Given the description of an element on the screen output the (x, y) to click on. 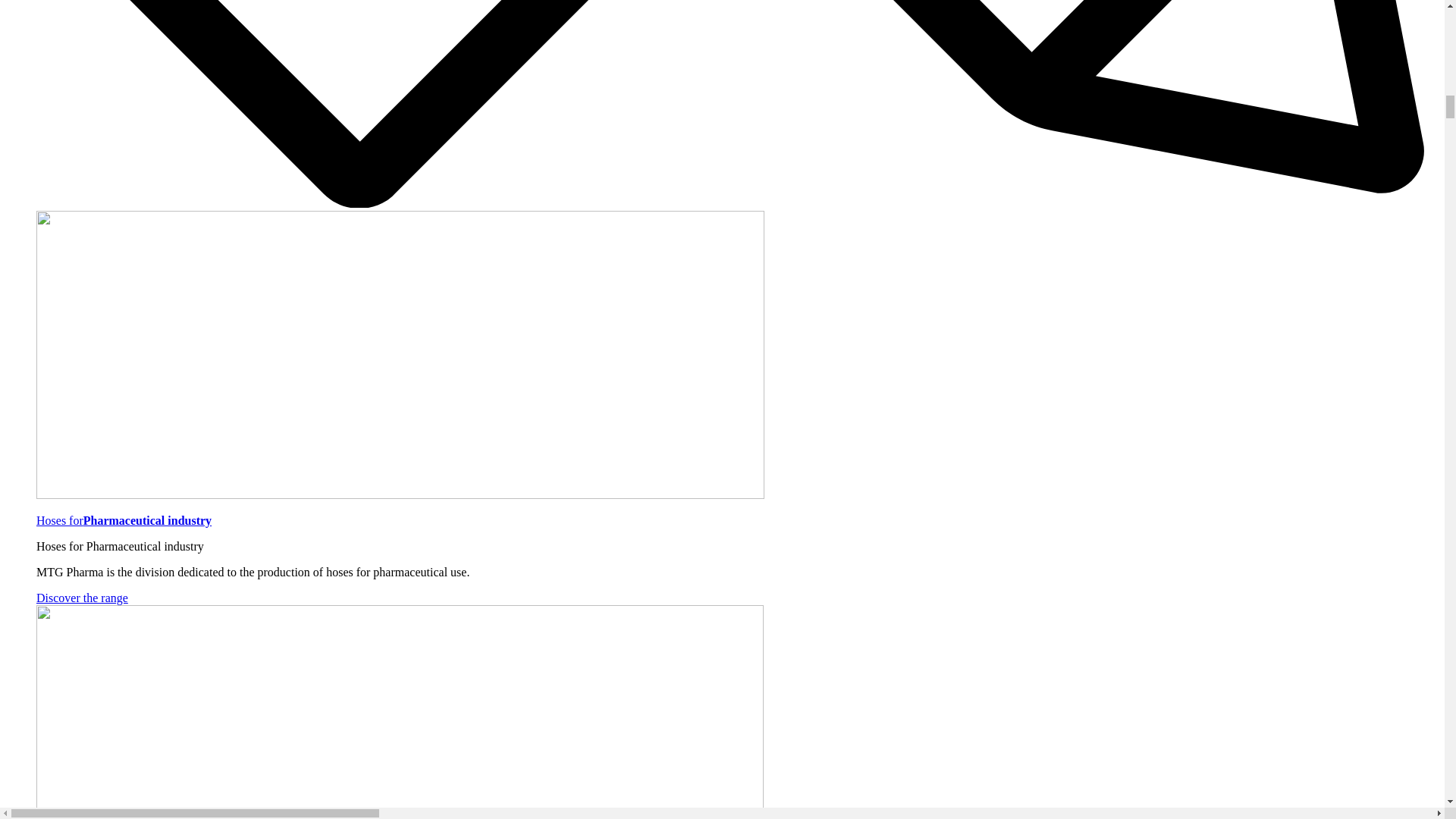
Discover the range (82, 597)
Discover the range (82, 597)
